Given the description of an element on the screen output the (x, y) to click on. 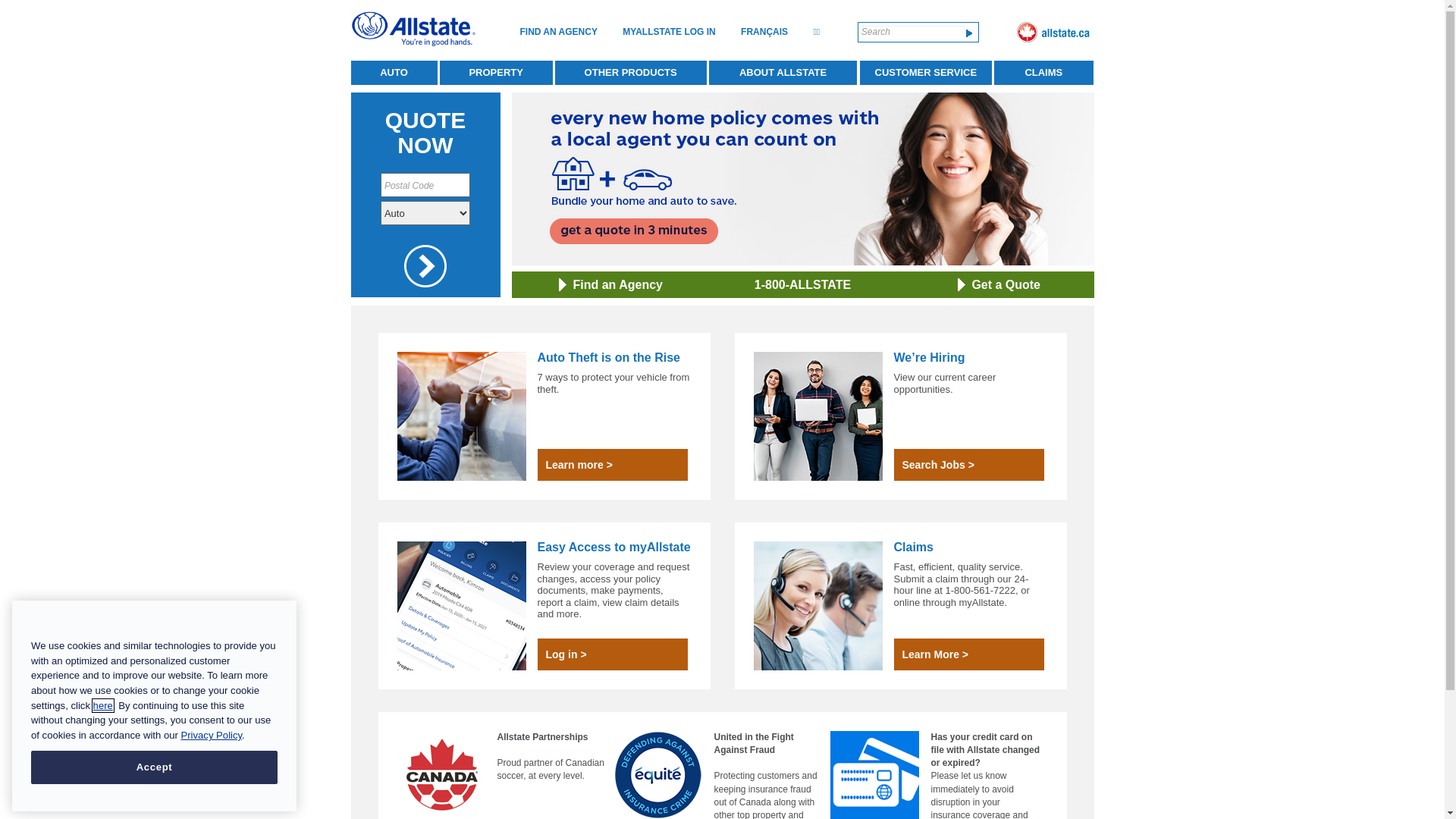
CUSTOMER SERVICE Element type: text (925, 72)
here Element type: text (102, 705)
Privacy Policy Element type: text (210, 734)
Find an Agency Element type: text (617, 284)
ABOUT ALLSTATE Element type: text (783, 72)
AUTO Element type: text (393, 72)
FIND AN AGENCY Element type: text (557, 31)
OTHER PRODUCTS Element type: text (630, 72)
Get a Quote Element type: text (1005, 284)
open in new window Element type: hover (424, 265)
MYALLSTATE LOG IN Element type: text (668, 31)
Accept Element type: text (154, 767)
CLAIMS Element type: text (1043, 72)
Home Element type: hover (412, 29)
Welcome to Allstate Canada Element type: hover (1053, 31)
PROPERTY Element type: text (495, 72)
